Given the description of an element on the screen output the (x, y) to click on. 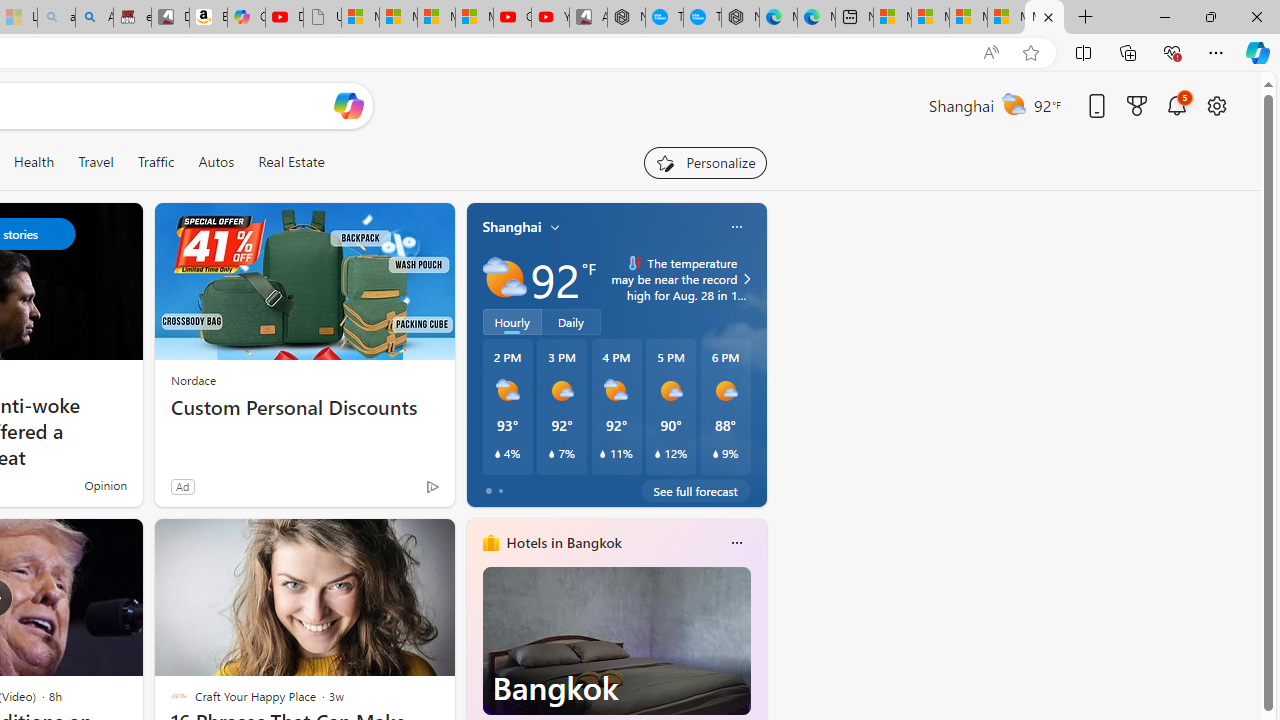
This story is trending (393, 490)
Partly sunny (504, 278)
Copilot (Ctrl+Shift+.) (1258, 52)
Microsoft rewards (1137, 105)
Untitled (321, 17)
Close (1256, 16)
Browser essentials (1171, 52)
Read aloud this page (Ctrl+Shift+U) (991, 53)
hotels-header-icon (490, 542)
previous (476, 670)
See full forecast (695, 490)
